Given the description of an element on the screen output the (x, y) to click on. 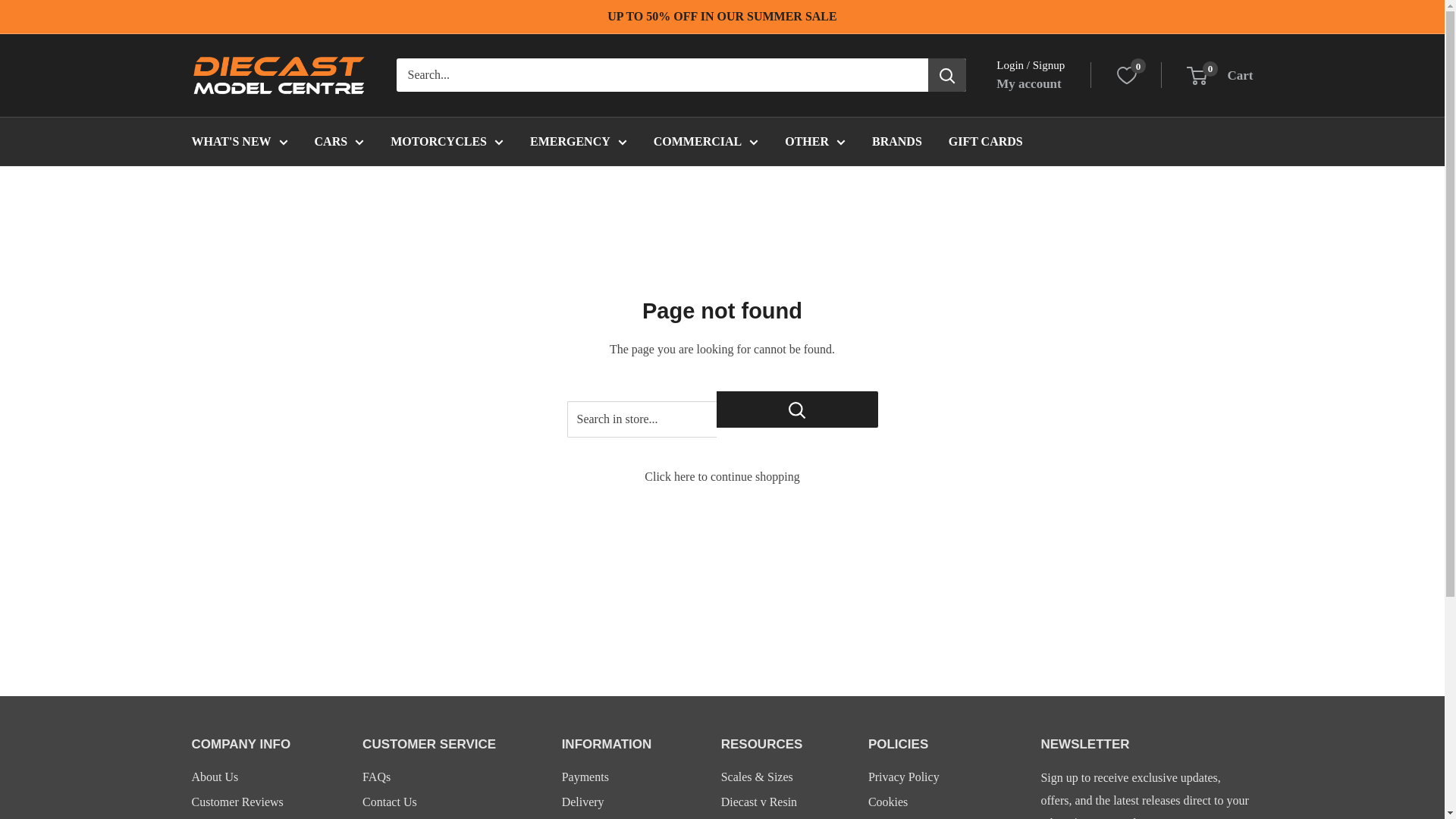
Privacy Policy (1115, 817)
